Given the description of an element on the screen output the (x, y) to click on. 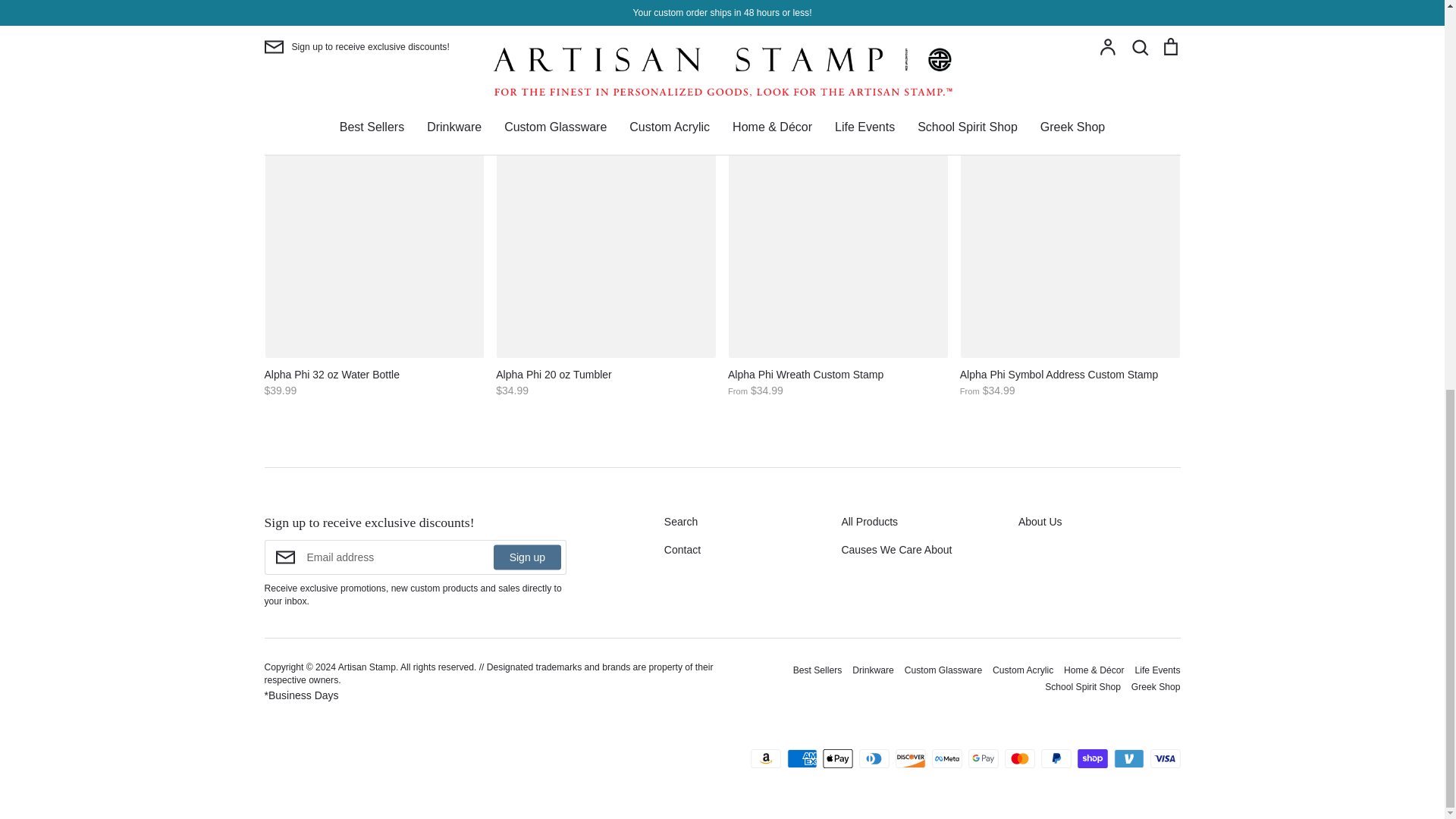
Google Pay (983, 758)
Amazon (765, 758)
Shop Pay (1092, 758)
Venmo (1128, 758)
Meta Pay (946, 758)
Mastercard (1019, 758)
Visa (1164, 758)
Diners Club (874, 758)
PayPal (1056, 758)
Apple Pay (837, 758)
Discover (910, 758)
American Express (801, 758)
